Given the description of an element on the screen output the (x, y) to click on. 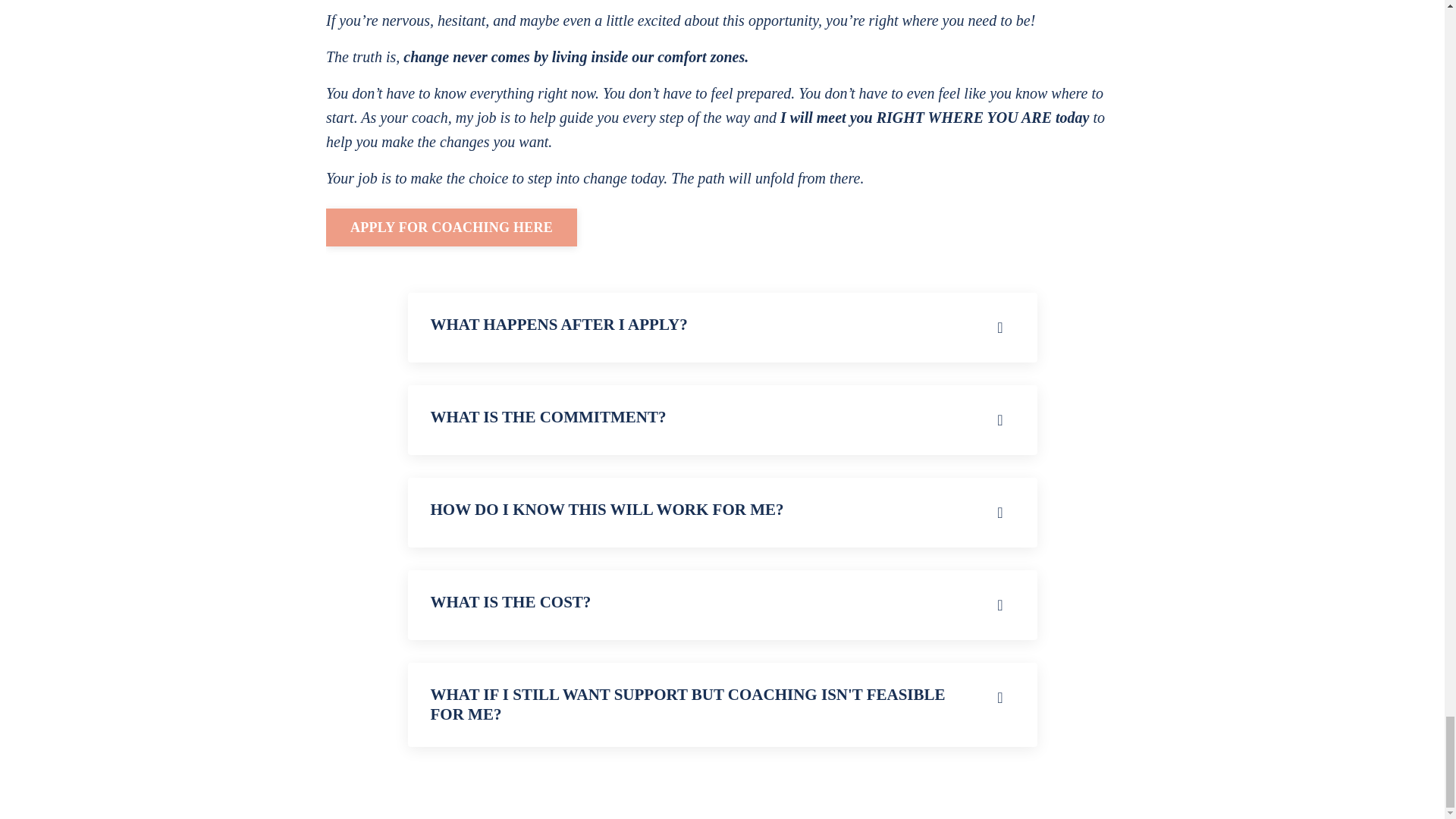
APPLY FOR COACHING HERE (451, 227)
